Given the description of an element on the screen output the (x, y) to click on. 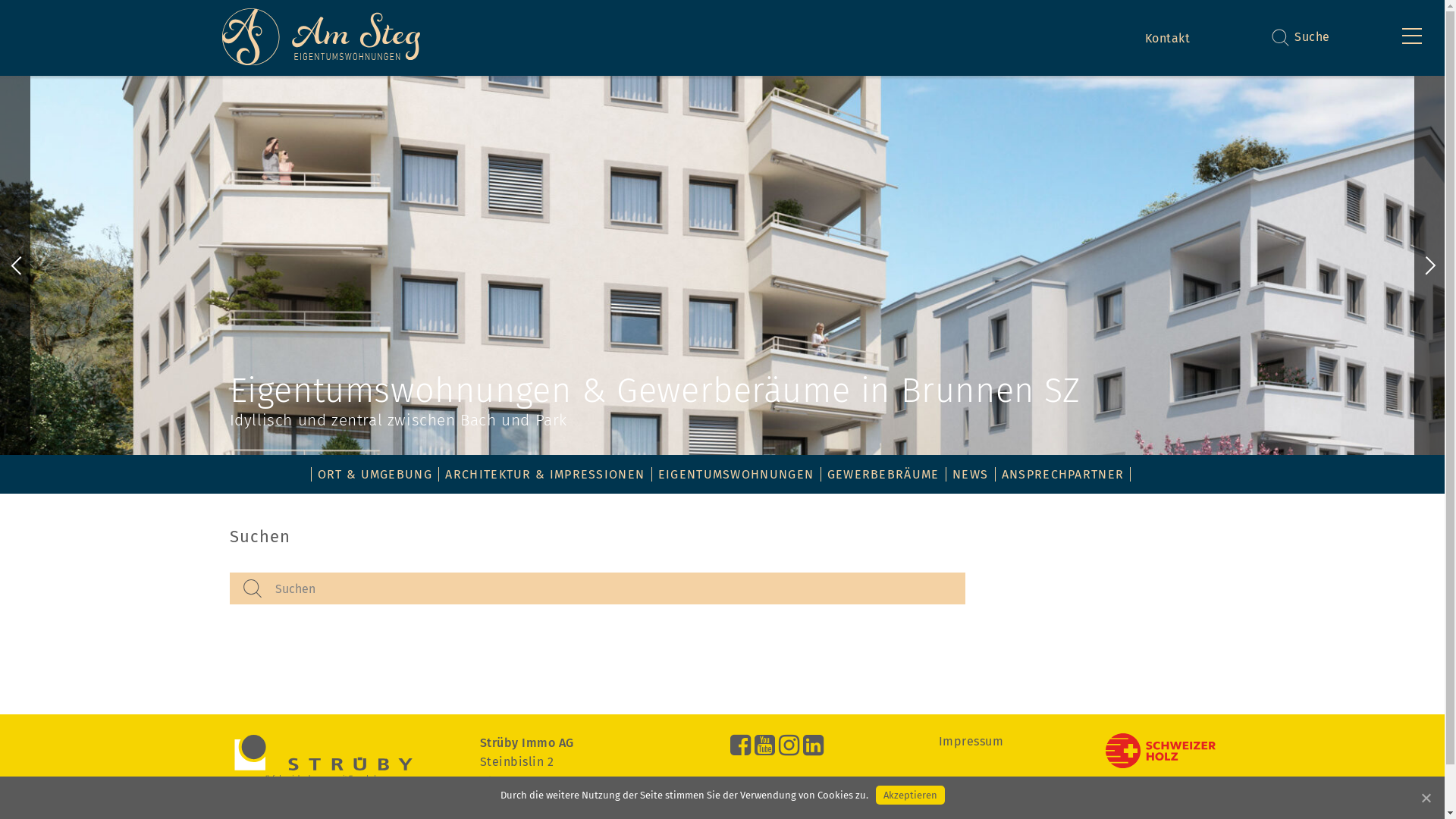
ORT & UMGEBUNG Element type: text (374, 474)
Impressum Element type: text (971, 741)
NEWS Element type: text (970, 474)
ANSPRECHPARTNER Element type: text (1062, 474)
Kontakt Element type: text (1167, 37)
Previous Element type: text (15, 265)
Next Element type: text (1429, 265)
ARCHITEKTUR & IMPRESSIONEN Element type: text (544, 474)
Akzeptieren Element type: text (909, 794)
Suche Element type: text (1311, 46)
EIGENTUMSWOHNUNGEN Element type: text (735, 474)
